Given the description of an element on the screen output the (x, y) to click on. 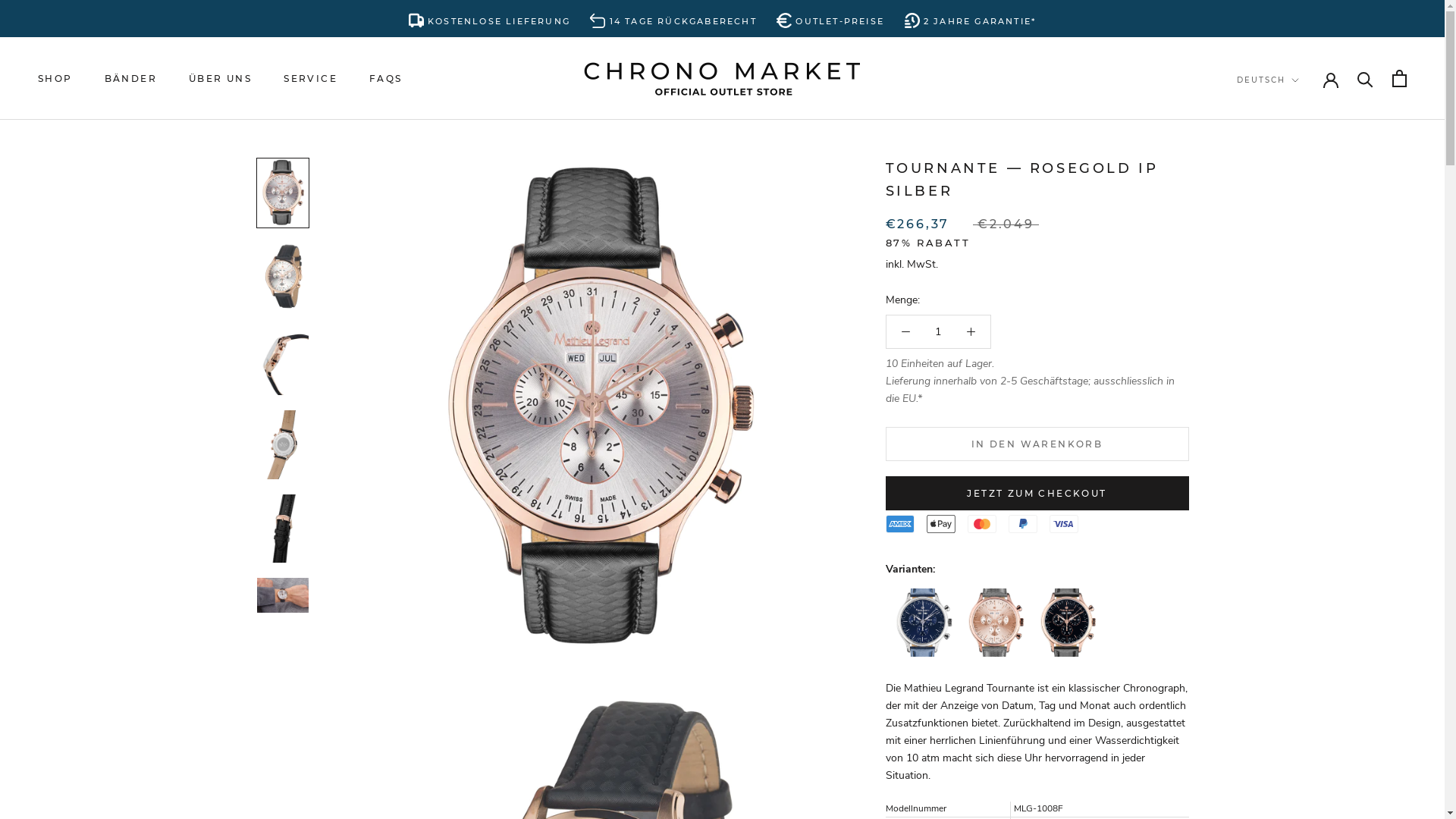
KOSTENLOSE LIEFERUNG Element type: text (489, 18)
FAQS
FAQS Element type: text (385, 78)
OUTLET-PREISE Element type: text (830, 18)
IN DEN WARENKORB Element type: text (1037, 443)
DEUTSCH Element type: text (1267, 80)
JETZT ZUM CHECKOUT Element type: text (1037, 493)
SERVICE Element type: text (310, 78)
Deutsch Element type: text (1283, 111)
SHOP
SHOP Element type: text (54, 78)
2 JAHRE GARANTIE* Element type: text (970, 18)
